Given the description of an element on the screen output the (x, y) to click on. 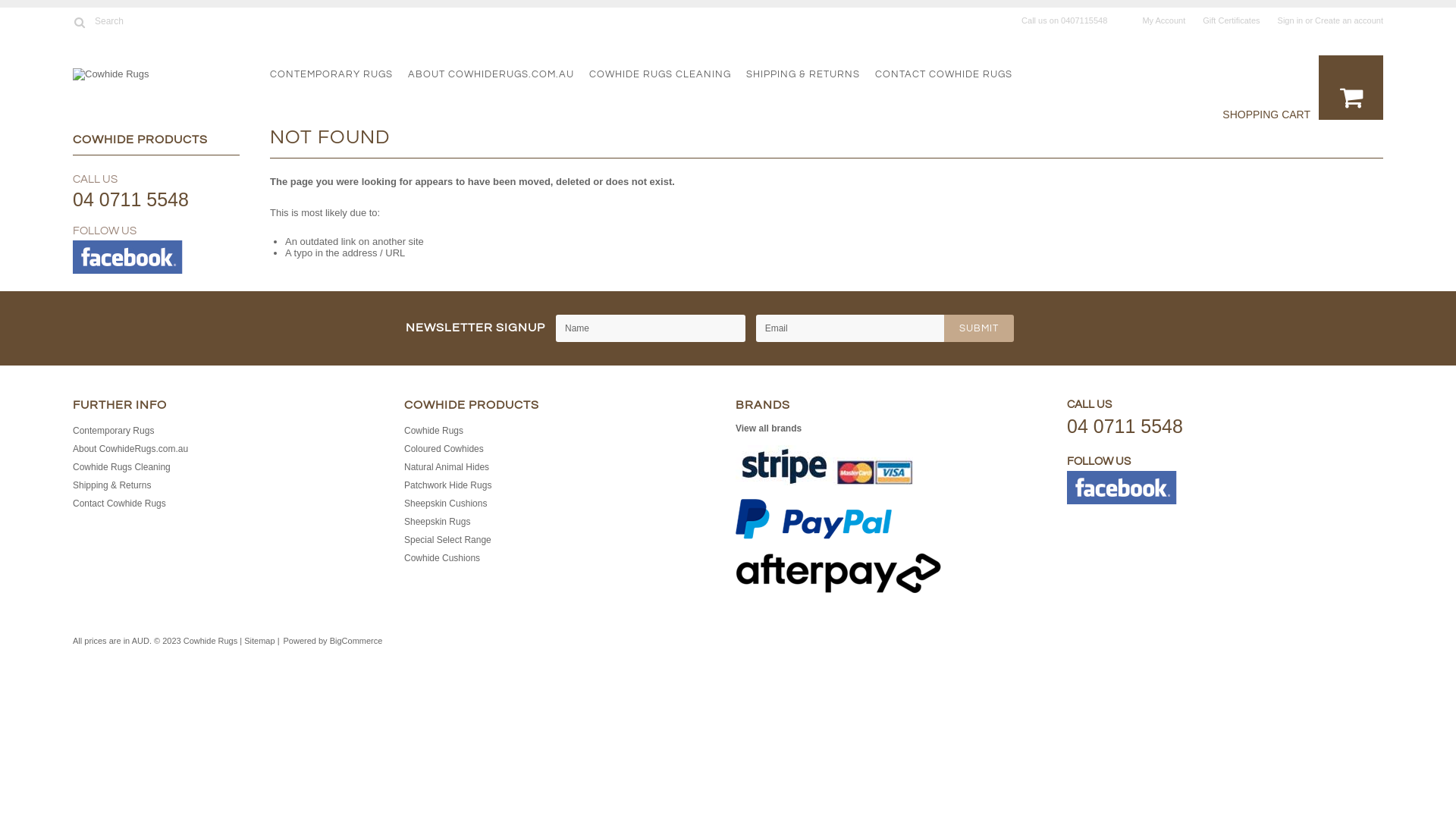
04 0711 5548 Element type: text (130, 199)
CONTEMPORARY RUGS Element type: text (338, 74)
Cowhide Rugs Element type: text (433, 430)
Gift Certificates Element type: text (1230, 20)
View Cart Element type: hover (1345, 89)
Stripe Element type: hover (824, 465)
Special Select Range Element type: text (447, 539)
My Account Element type: text (1163, 20)
About CowhideRugs.com.au Element type: text (130, 448)
Contact Cowhide Rugs Element type: text (119, 503)
Submit Element type: text (978, 328)
PayPal Element type: hover (813, 519)
Sheepskin Rugs Element type: text (437, 521)
Sheepskin Cushions Element type: text (445, 503)
SHIPPING & RETURNS Element type: text (810, 74)
Create an account Element type: text (1348, 20)
COWHIDE RUGS CLEANING Element type: text (667, 74)
Cowhide Cushions Element type: text (442, 557)
afterpay Element type: hover (838, 573)
Natural Animal Hides Element type: text (446, 466)
  Element type: text (1350, 87)
Cowhide Rugs Cleaning Element type: text (121, 466)
Coloured Cowhides Element type: text (443, 448)
Contemporary Rugs Element type: text (112, 430)
PayPal Element type: hover (813, 518)
Sign in Element type: text (1290, 20)
Stripe Element type: hover (824, 466)
BigCommerce Element type: text (355, 641)
Sitemap Element type: text (259, 640)
Search Element type: hover (78, 21)
View all brands Element type: text (768, 428)
afterpay Element type: hover (838, 572)
SHOPPING CART Element type: text (1266, 114)
CONTACT COWHIDE RUGS Element type: text (951, 74)
ABOUT COWHIDERUGS.COM.AU Element type: text (498, 74)
04 0711 5548 Element type: text (1124, 425)
View Cart Element type: hover (1350, 87)
Patchwork Hide Rugs Element type: text (447, 485)
Shipping & Returns Element type: text (111, 485)
